Given the description of an element on the screen output the (x, y) to click on. 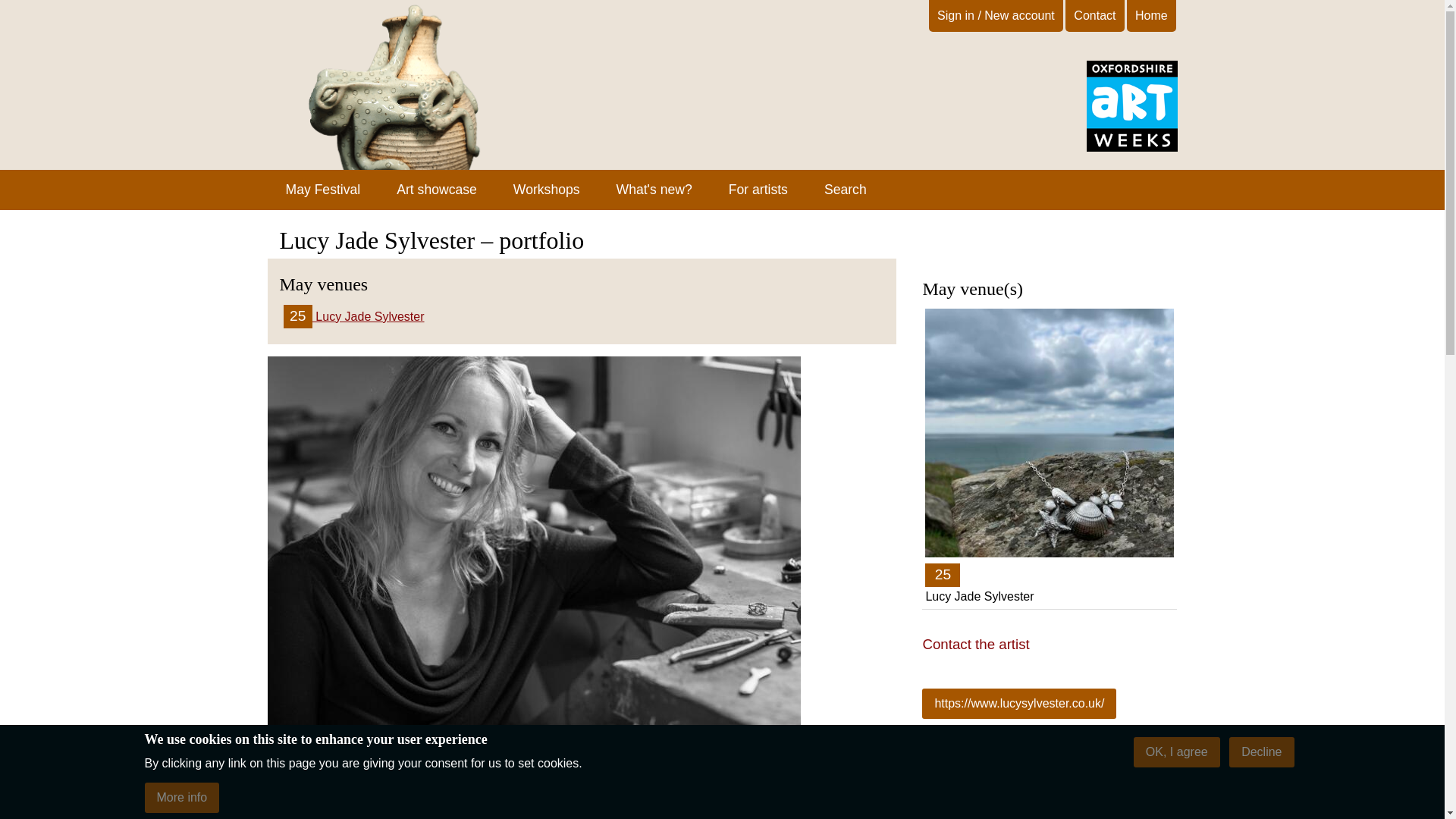
Search (845, 189)
Sign in to your Artweeks account (995, 15)
Workshops (546, 189)
Get in touch (1094, 15)
Home (1151, 15)
For artists (758, 189)
What's new? (654, 189)
Art showcase (436, 189)
Contact (1094, 15)
May Festival (322, 189)
